Given the description of an element on the screen output the (x, y) to click on. 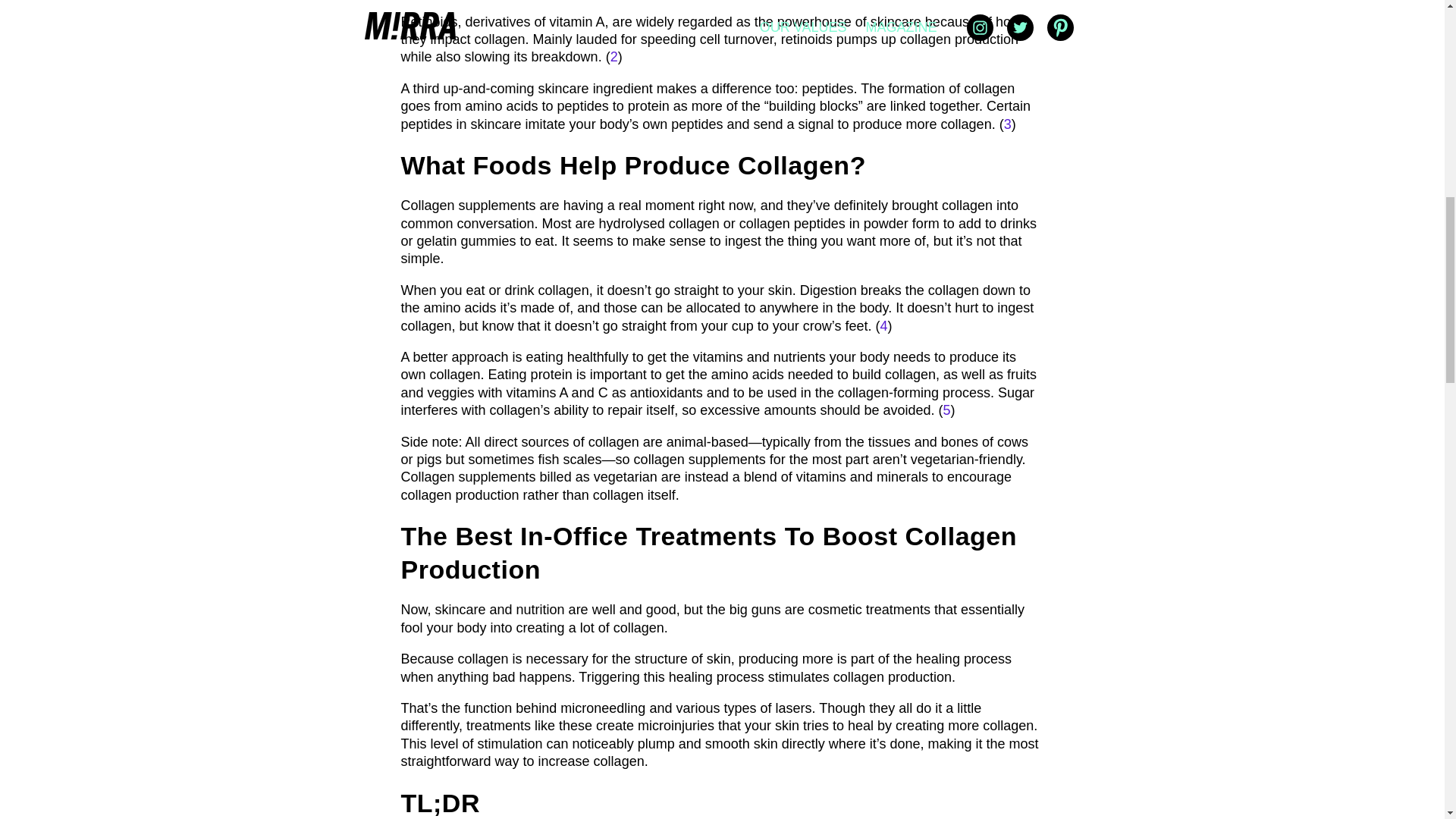
2 (613, 56)
3 (1007, 124)
4 (882, 325)
5 (946, 409)
